Given the description of an element on the screen output the (x, y) to click on. 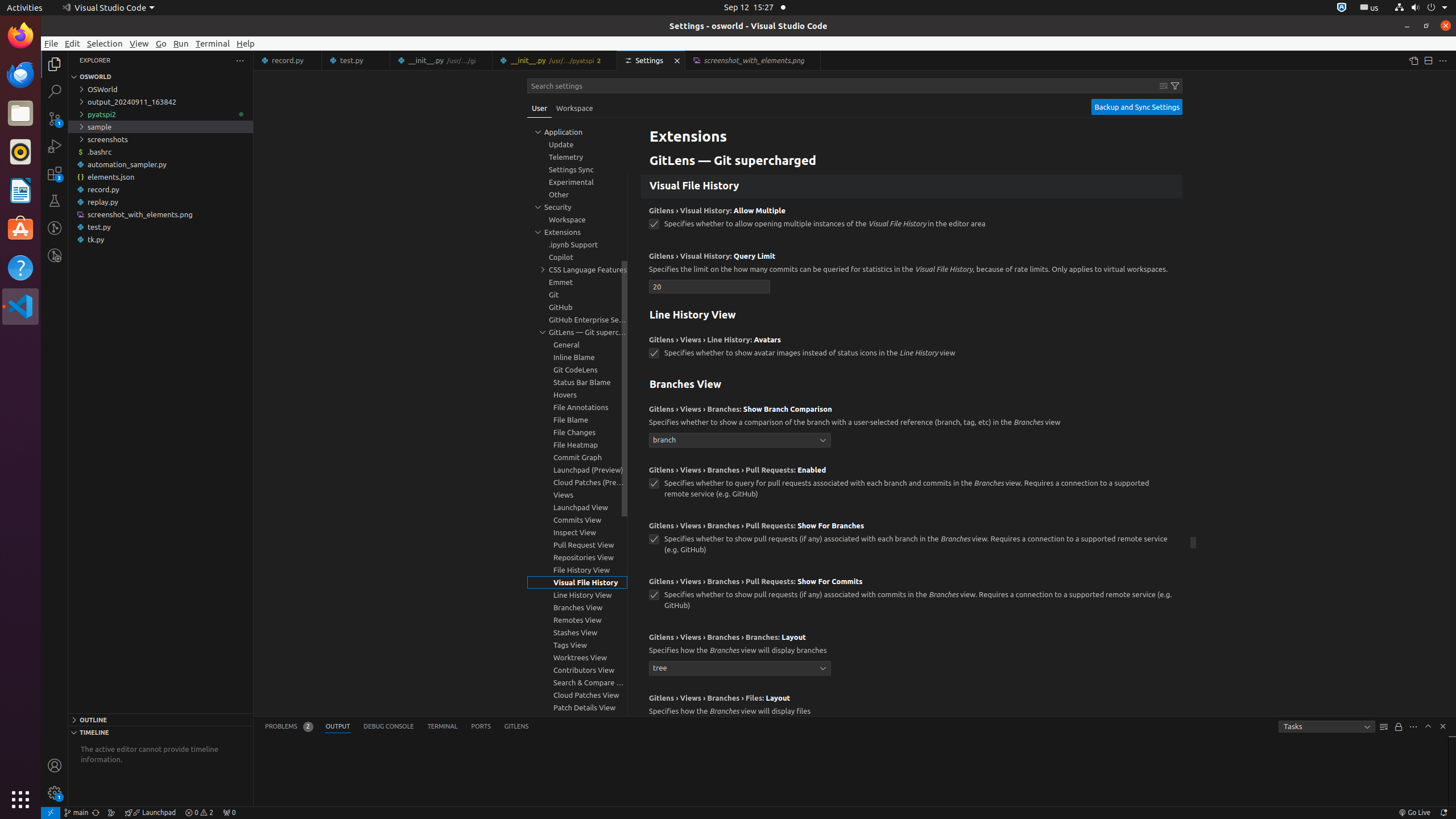
Worktrees View, group Element type: tree-item (577, 657)
Gitlens › Advanced File History Show Merge Commits. Specifies whether file histories will show merge commits  Element type: tree-item (911, 151)
Status Bar Blame, group Element type: tree-item (577, 381)
Patch Details View, group Element type: tree-item (577, 707)
Warnings: 2 Element type: push-button (199, 812)
